Given the description of an element on the screen output the (x, y) to click on. 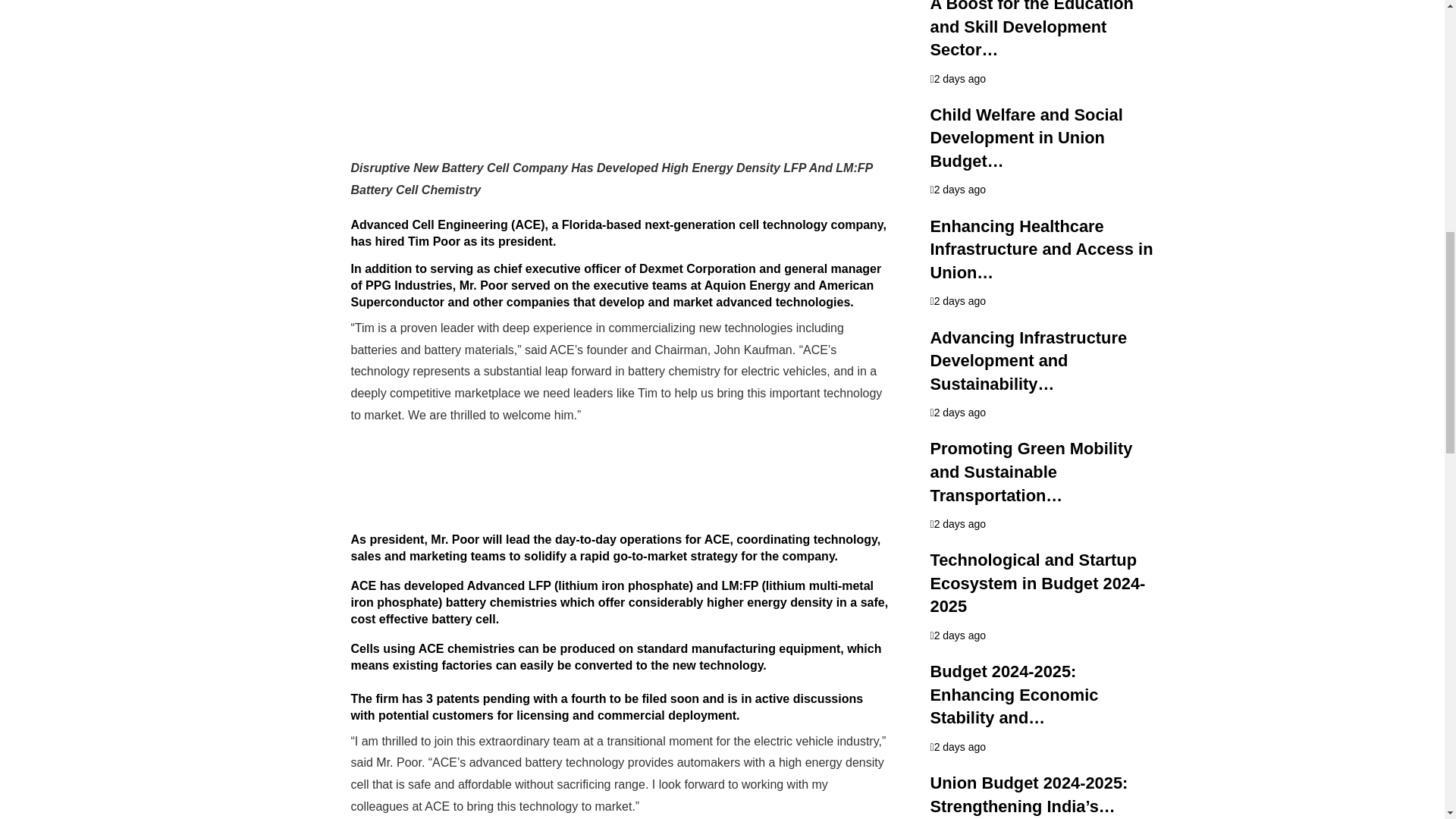
Advertisement (619, 79)
